Given the description of an element on the screen output the (x, y) to click on. 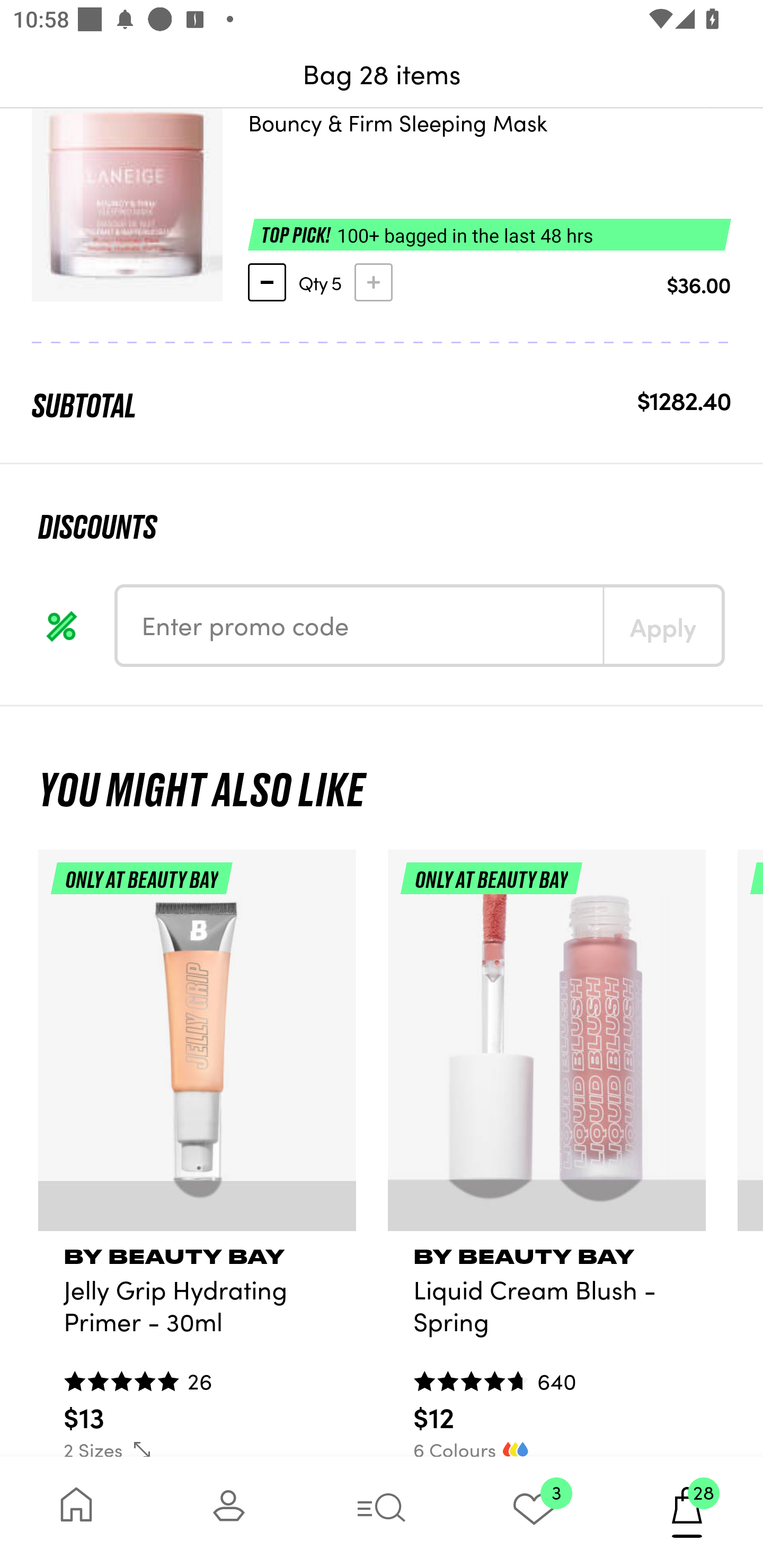
Enter promo code (360, 625)
Apply (661, 625)
ONLY AT BEAUTY BAY (197, 1047)
ONLY AT BEAUTY BAY (546, 1047)
3 (533, 1512)
28 (686, 1512)
